Given the description of an element on the screen output the (x, y) to click on. 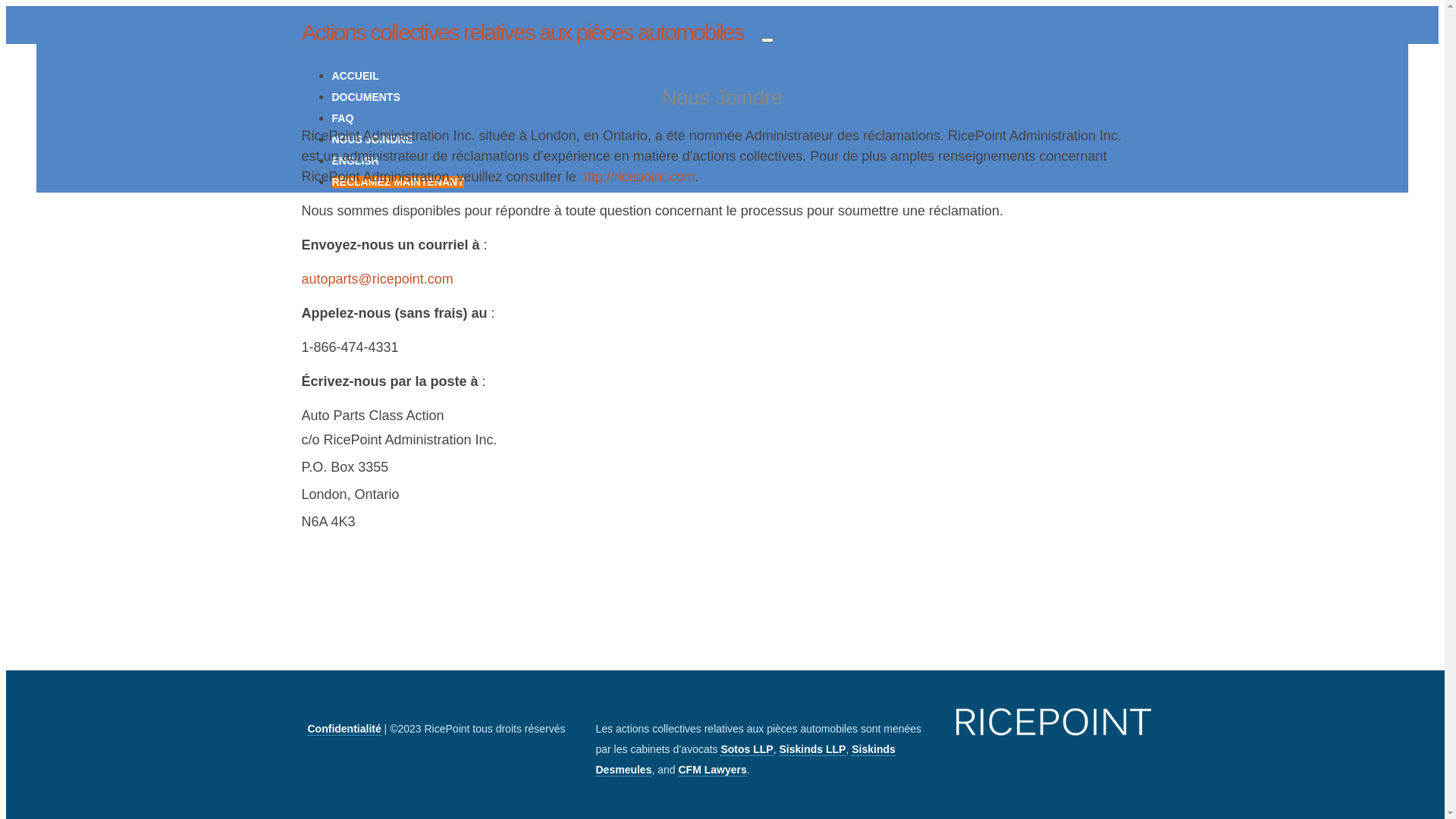
ENGLISH Element type: text (355, 160)
Siskinds LLP Element type: text (812, 749)
NOUS JOINDRE Element type: text (372, 139)
Sotos LLP Element type: text (746, 749)
DOCUMENTS Element type: text (366, 97)
CFM Lawyers Element type: text (711, 769)
http://ricepoint.com Element type: text (637, 176)
Siskinds Desmeules Element type: text (745, 759)
FAQ Element type: text (343, 118)
autoparts@ricepoint.com Element type: text (377, 278)
ACCUEIL Element type: text (355, 75)
